Given the description of an element on the screen output the (x, y) to click on. 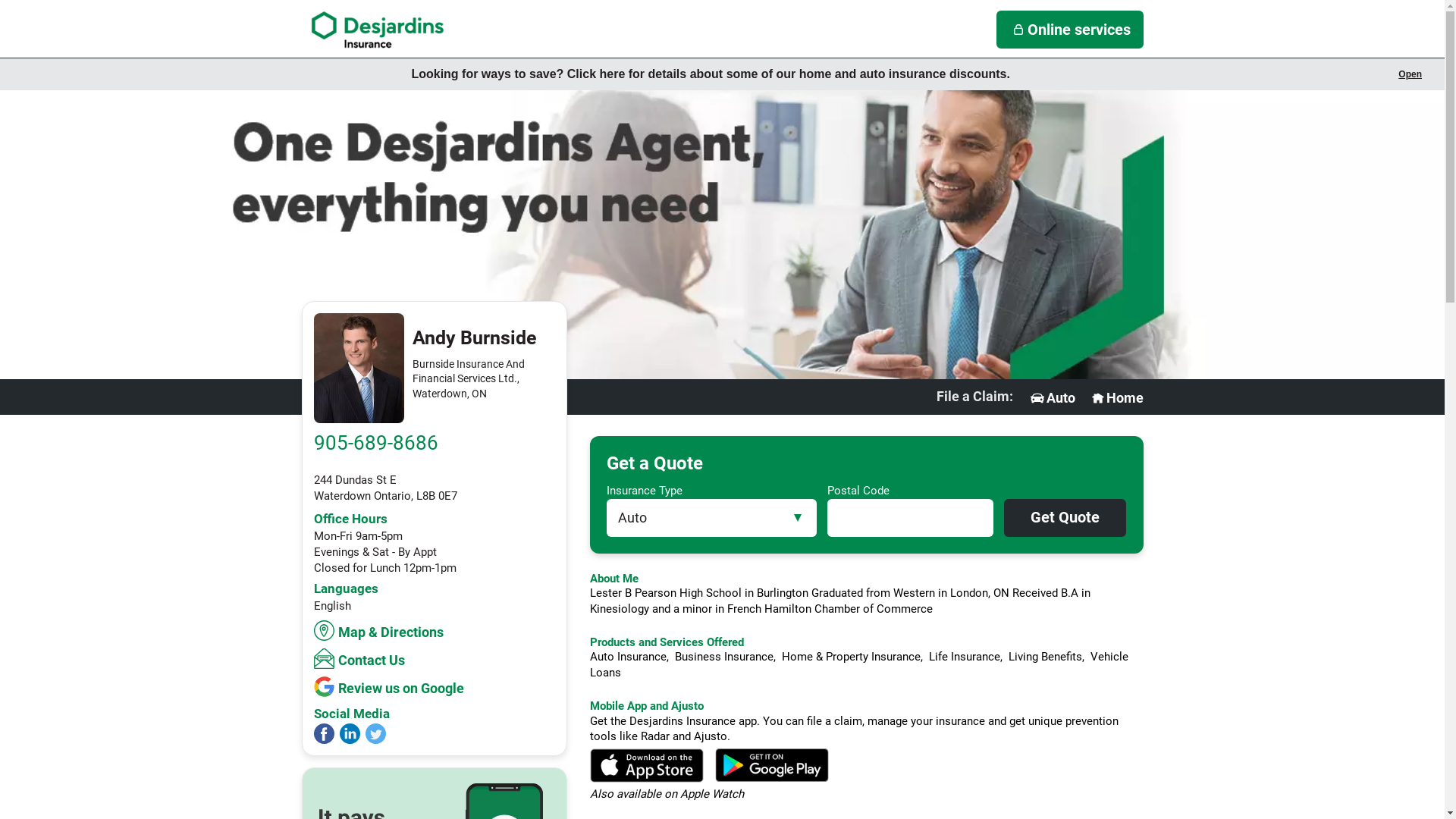
Online services Element type: text (1069, 29)
Navigate to Desjardins Insurance Element type: hover (377, 29)
Open Element type: text (1409, 73)
Auto Element type: text (1051, 397)
Home Element type: text (1115, 397)
Review us on Google Element type: text (390, 686)
Contact Us Element type: text (360, 658)
Get Quote Element type: text (1065, 517)
905-689-8686 Element type: text (375, 442)
Map & Directions Element type: text (380, 630)
